Given the description of an element on the screen output the (x, y) to click on. 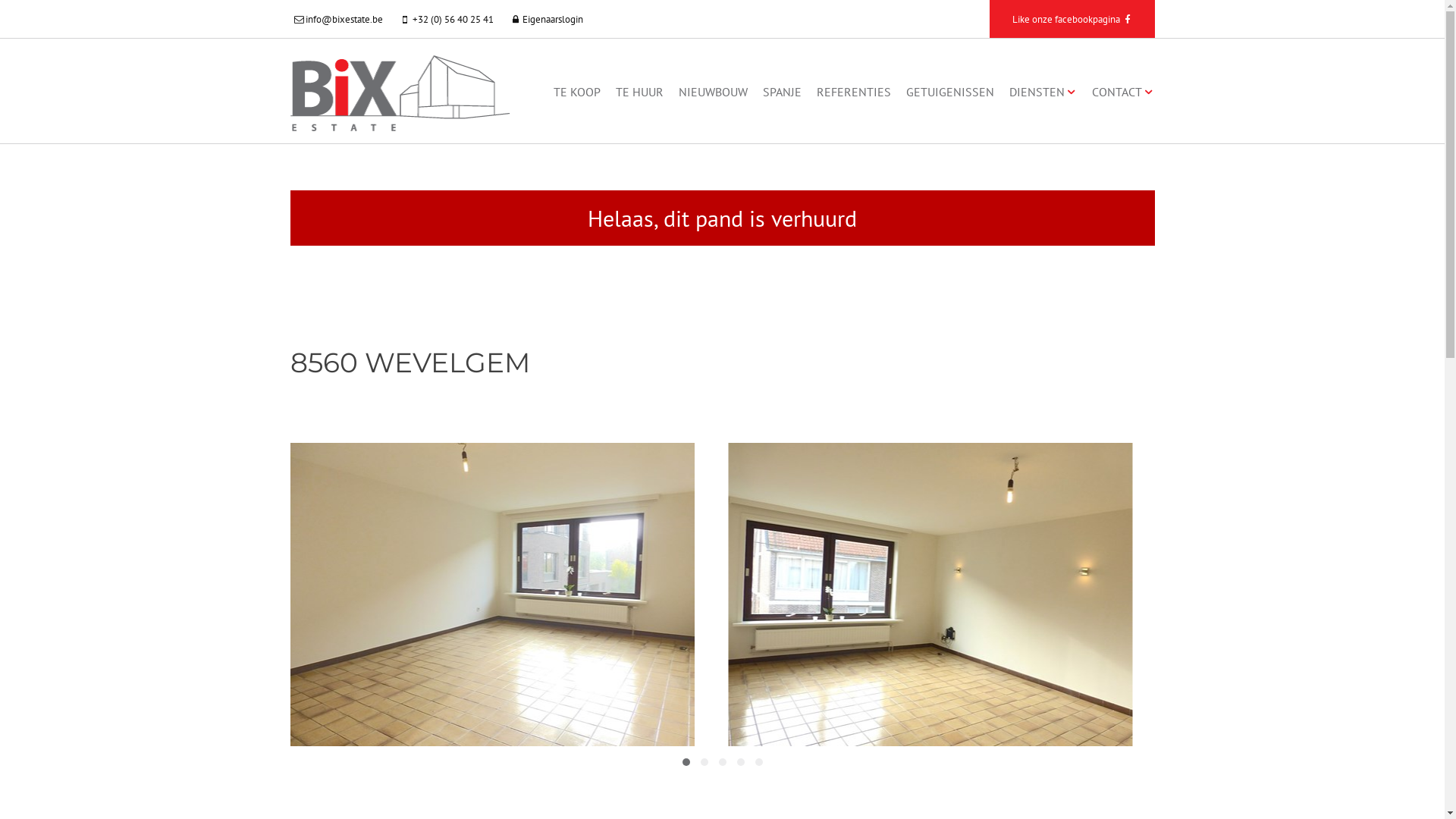
SPANJE Element type: text (781, 91)
CONTACT Element type: text (1123, 91)
Like onze facebookpagina Element type: text (1071, 18)
BiX estate Element type: hover (398, 91)
TE HUUR Element type: text (639, 91)
Eigenaarslogin Element type: text (547, 18)
TE KOOP Element type: text (576, 91)
+32 (0) 56 40 25 41 Element type: text (447, 18)
info@bixestate.be Element type: text (339, 18)
DIENSTEN Element type: text (1042, 91)
GETUIGENISSEN Element type: text (950, 91)
NIEUWBOUW Element type: text (712, 91)
REFERENTIES Element type: text (853, 91)
